Given the description of an element on the screen output the (x, y) to click on. 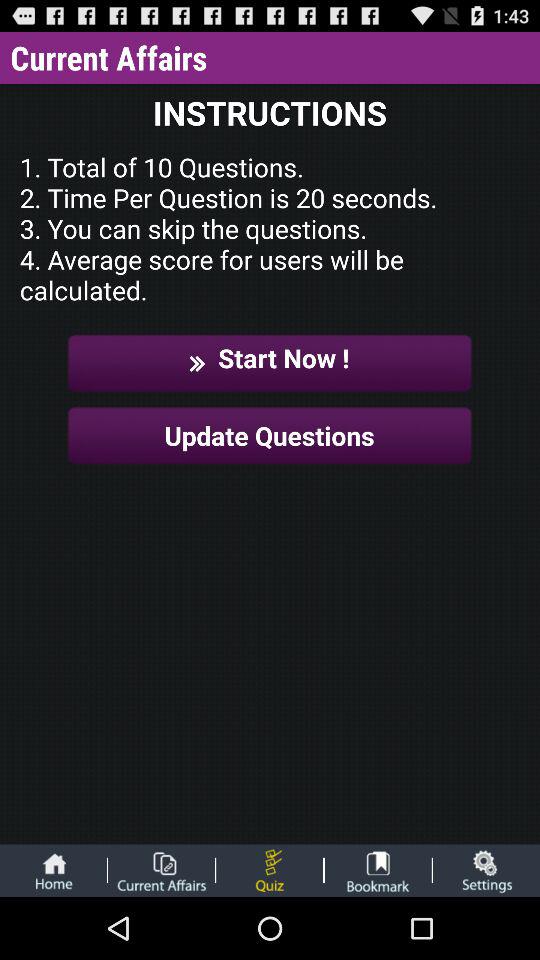
mark note the instructions as bookmark (378, 870)
